Given the description of an element on the screen output the (x, y) to click on. 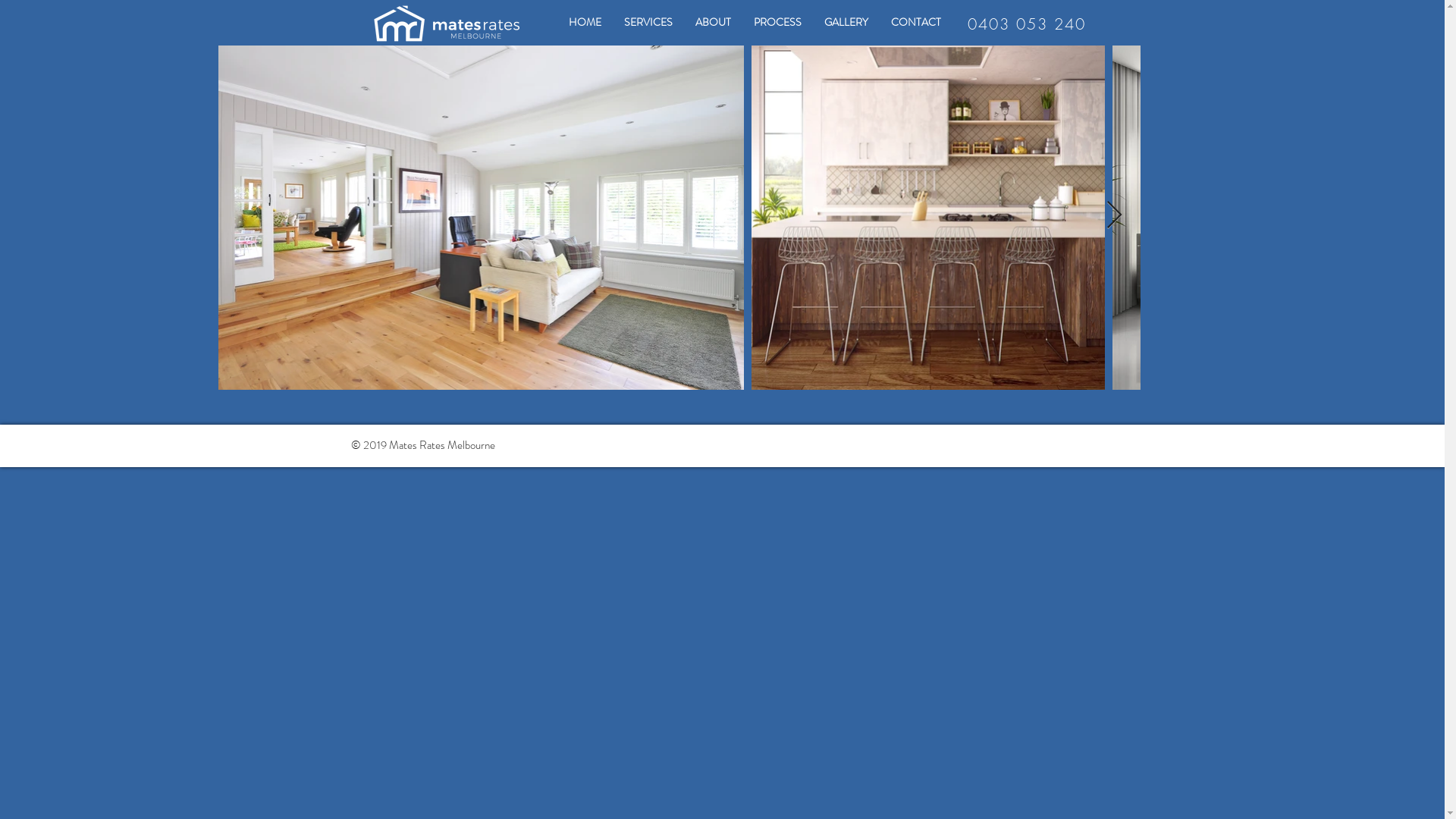
CONTACT Element type: text (915, 22)
GALLERY Element type: text (845, 22)
SERVICES Element type: text (648, 22)
ABOUT Element type: text (713, 22)
PROCESS Element type: text (776, 22)
HOME Element type: text (583, 22)
